Given the description of an element on the screen output the (x, y) to click on. 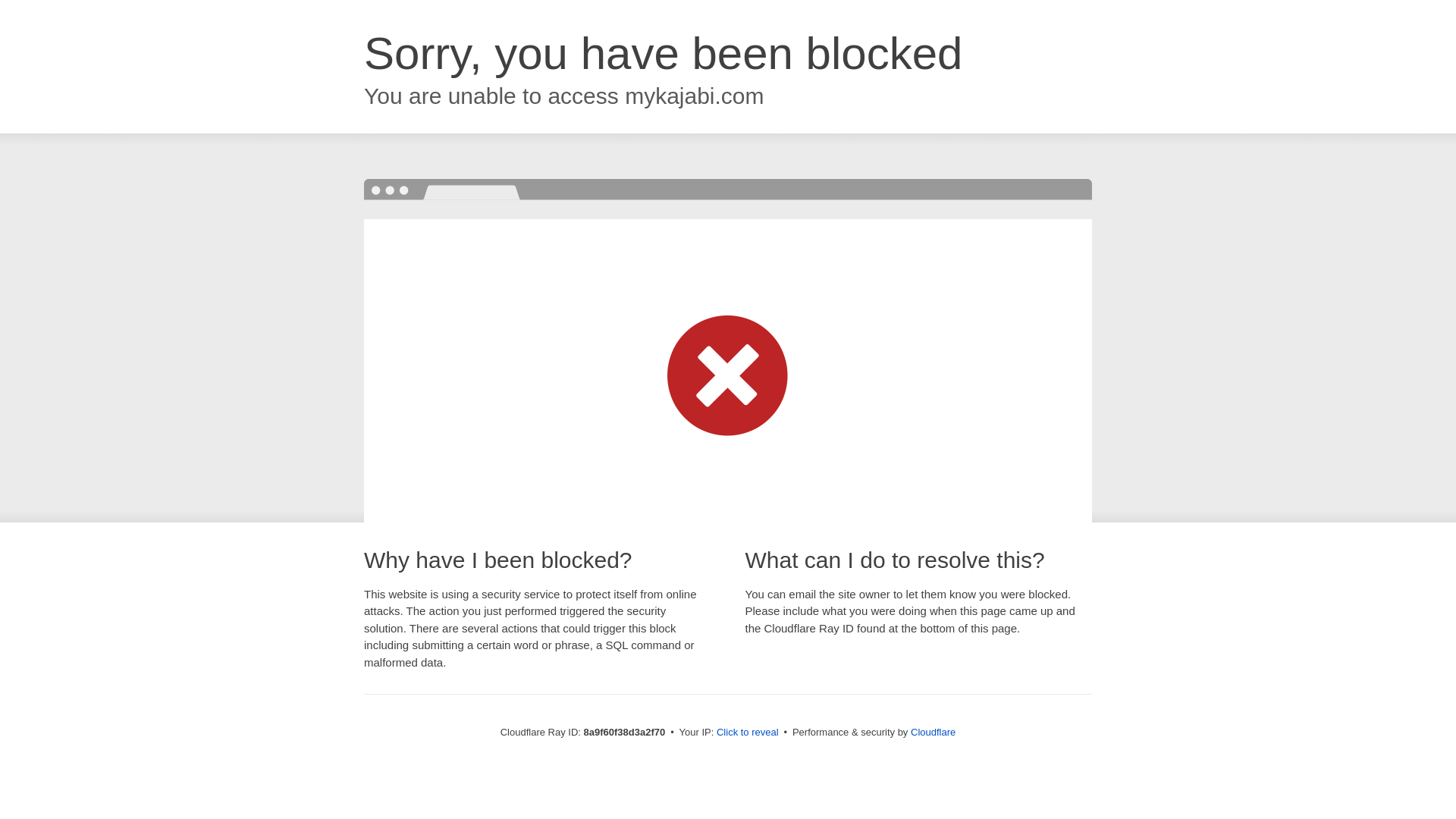
Cloudflare (933, 731)
Click to reveal (747, 732)
